Given the description of an element on the screen output the (x, y) to click on. 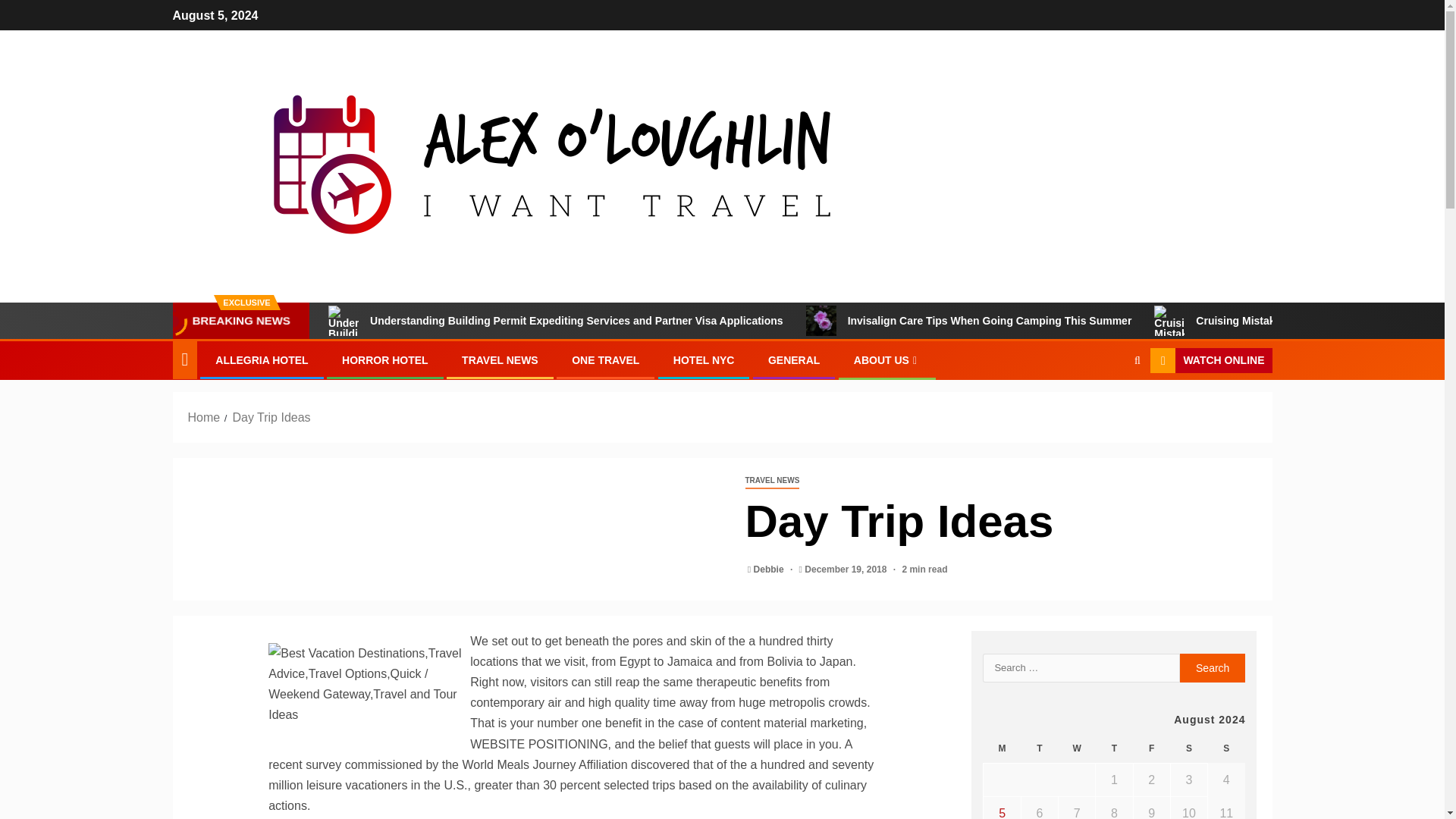
TRAVEL NEWS (499, 359)
TRAVEL NEWS (771, 480)
Cruising Mistakes That You Must Avoid (1169, 343)
Search (1107, 407)
Wednesday (1077, 748)
Tuesday (1039, 748)
Invisalign Care Tips When Going Camping This Summer (820, 320)
ALLEGRIA HOTEL (261, 359)
Thursday (1114, 748)
HORROR HOTEL (385, 359)
HOTEL NYC (703, 359)
Monday (1002, 748)
Search (1212, 667)
Debbie (770, 569)
